Given the description of an element on the screen output the (x, y) to click on. 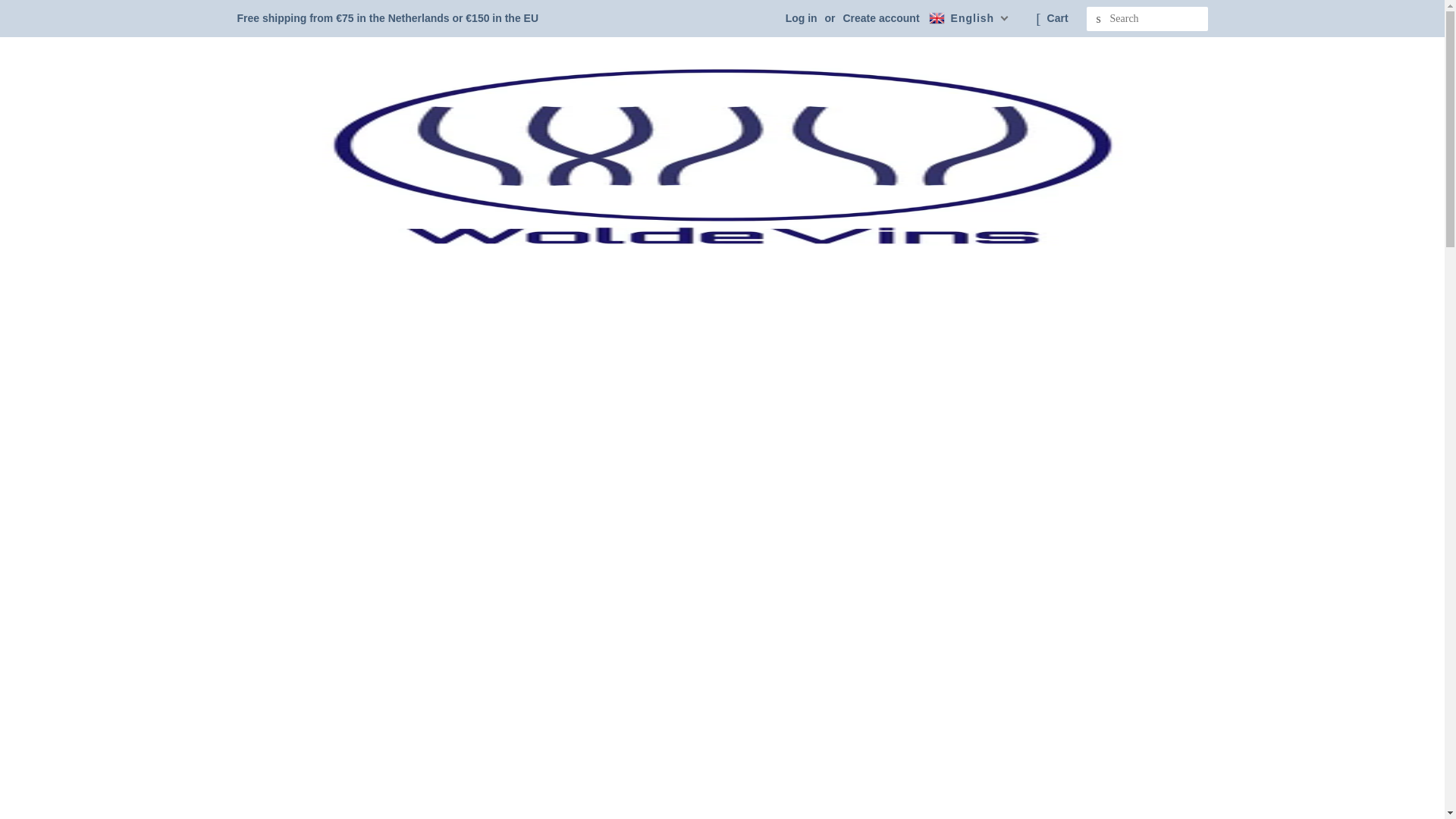
Search (1097, 18)
Create account (880, 18)
Log in (801, 18)
Cart (1057, 18)
